Given the description of an element on the screen output the (x, y) to click on. 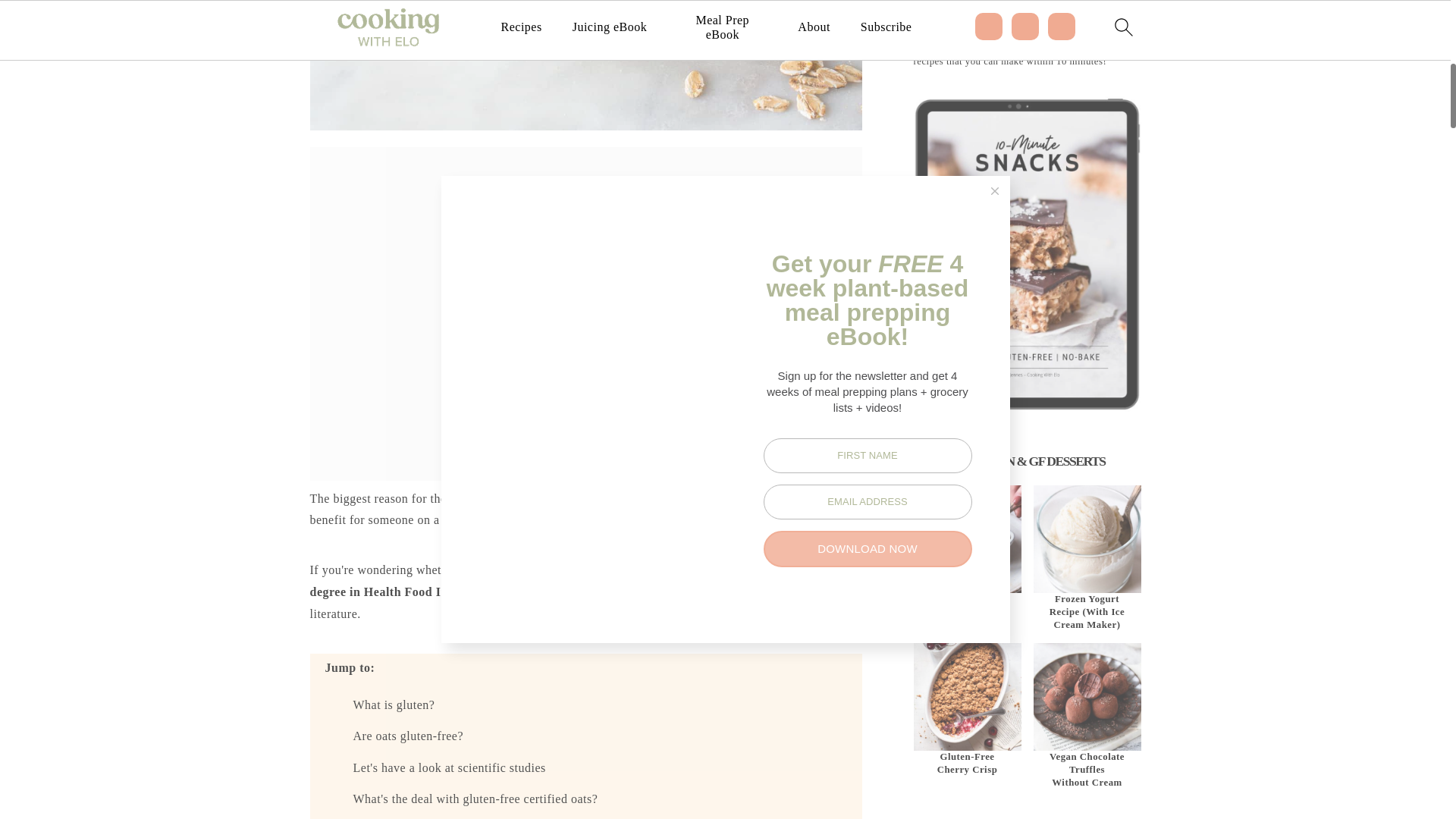
What is gluten? (394, 704)
Let's have a look at scientific studies (449, 767)
Are oats gluten-free? (408, 735)
What's the deal with gluten-free certified oats? (475, 798)
